Given the description of an element on the screen output the (x, y) to click on. 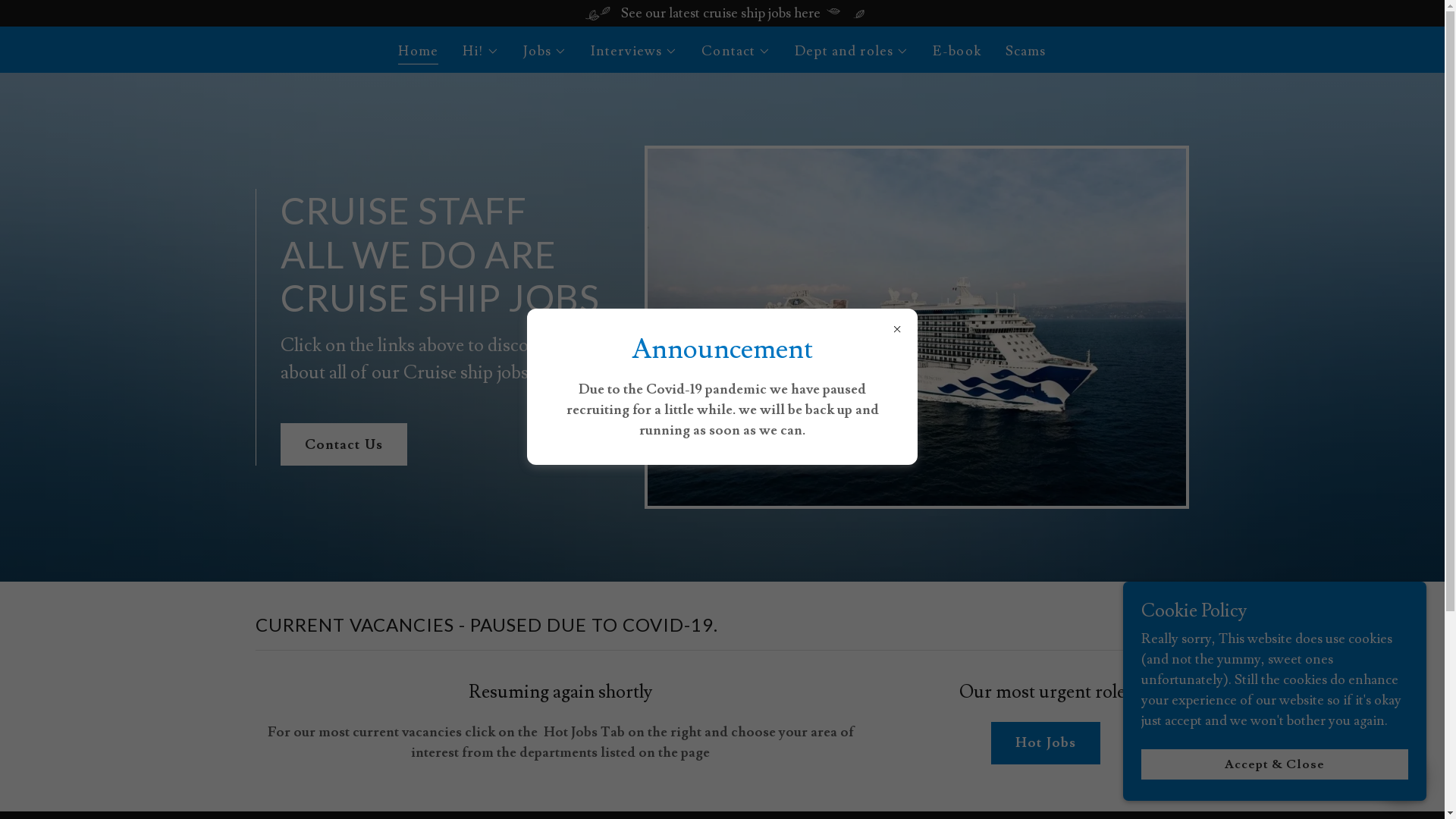
Hi! Element type: text (480, 51)
Contact Element type: text (735, 51)
Accept & Close Element type: text (1274, 764)
Jobs Element type: text (544, 51)
Hot Jobs Element type: text (1045, 742)
Scams Element type: text (1026, 51)
Home Element type: text (418, 53)
Interviews Element type: text (633, 51)
Contact Us Element type: text (343, 444)
See our latest cruise ship jobs here Element type: text (722, 13)
E-book Element type: text (956, 51)
Dept and roles Element type: text (851, 51)
